Given the description of an element on the screen output the (x, y) to click on. 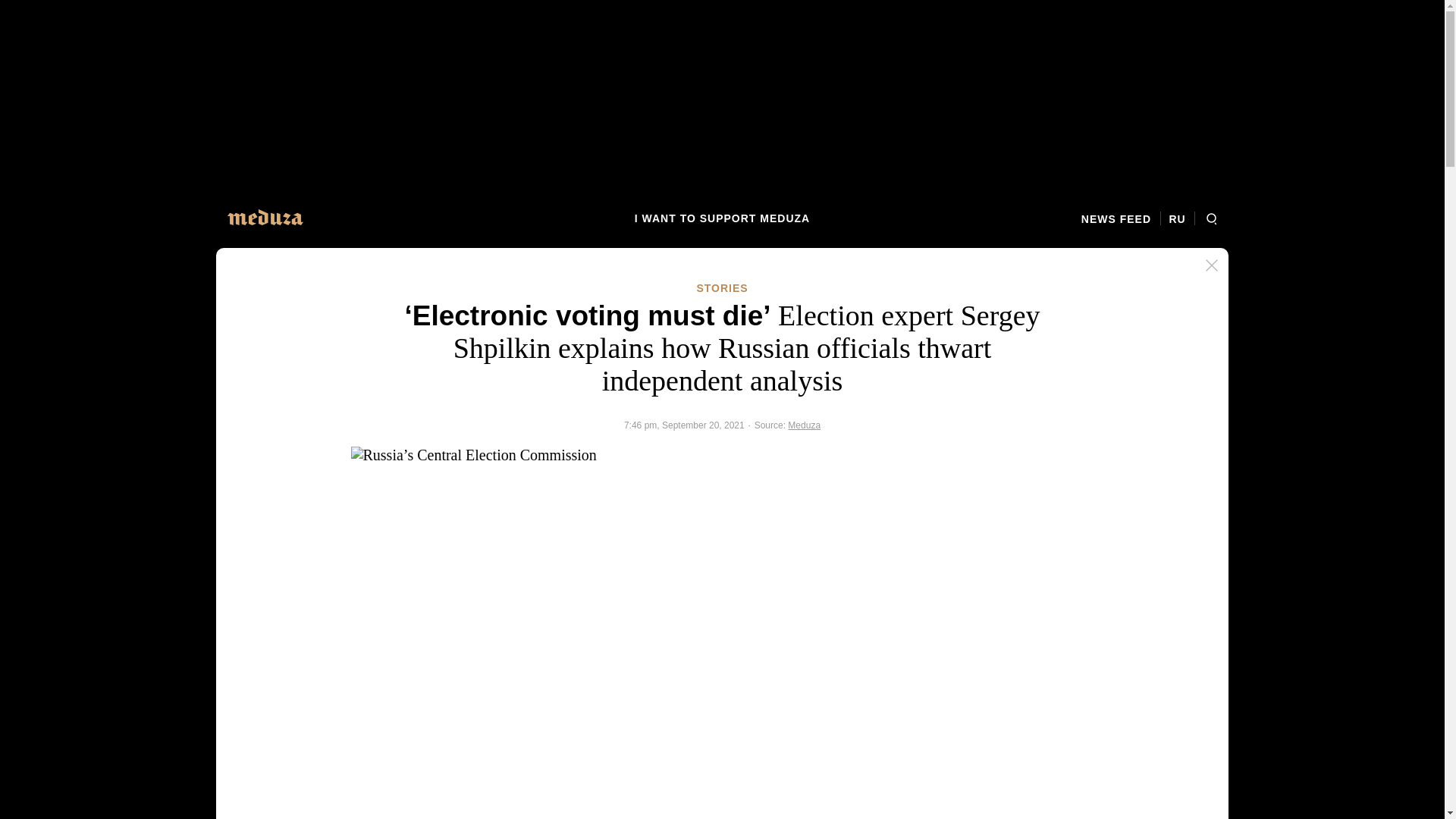
Meduza (804, 425)
NEWS FEED (1120, 218)
I WANT TO SUPPORT MEDUZA (722, 218)
RU (1176, 218)
